Given the description of an element on the screen output the (x, y) to click on. 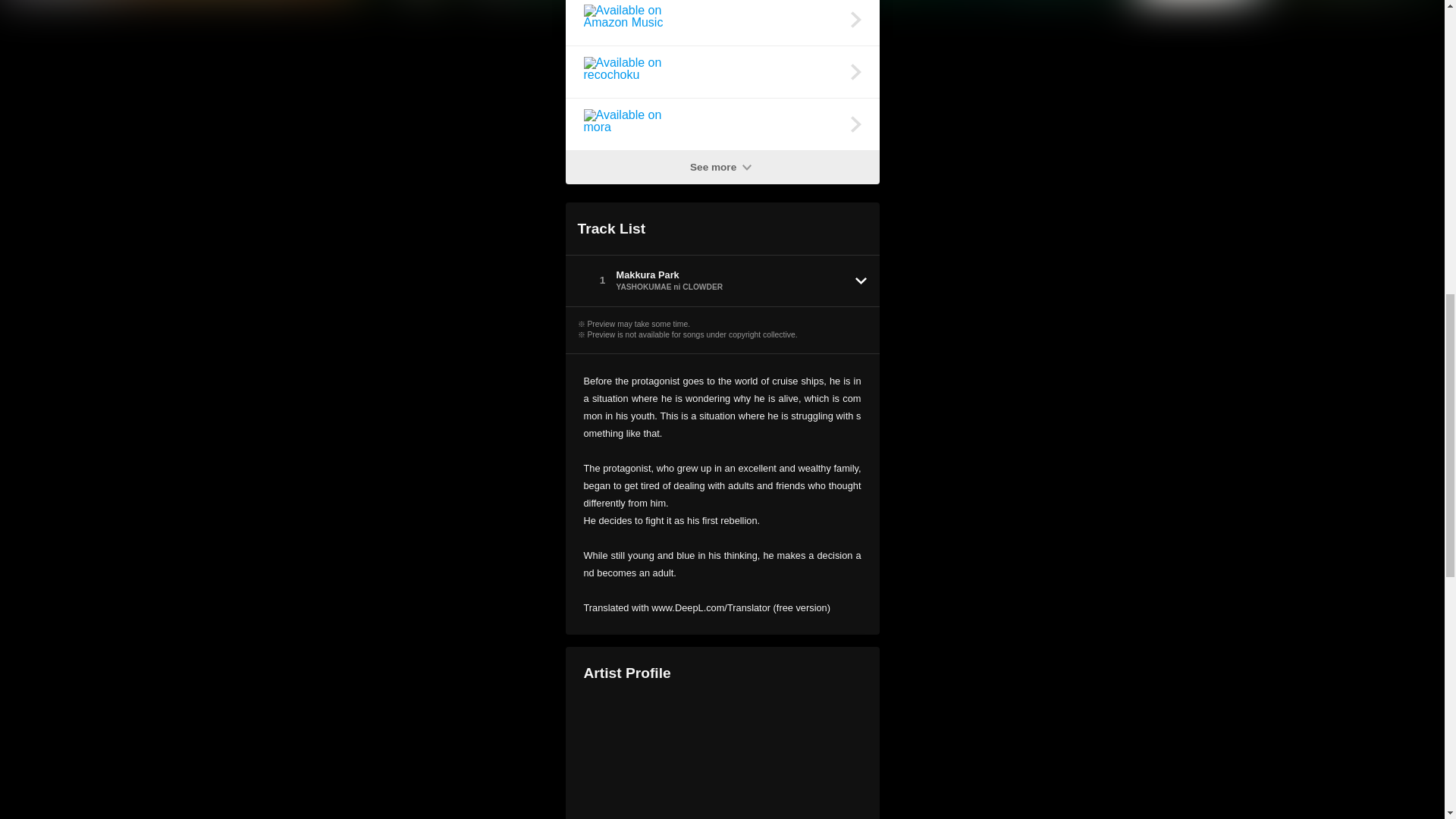
Available on recochoku (722, 71)
Available on mora (722, 123)
Available on Amazon Music (722, 22)
